Given the description of an element on the screen output the (x, y) to click on. 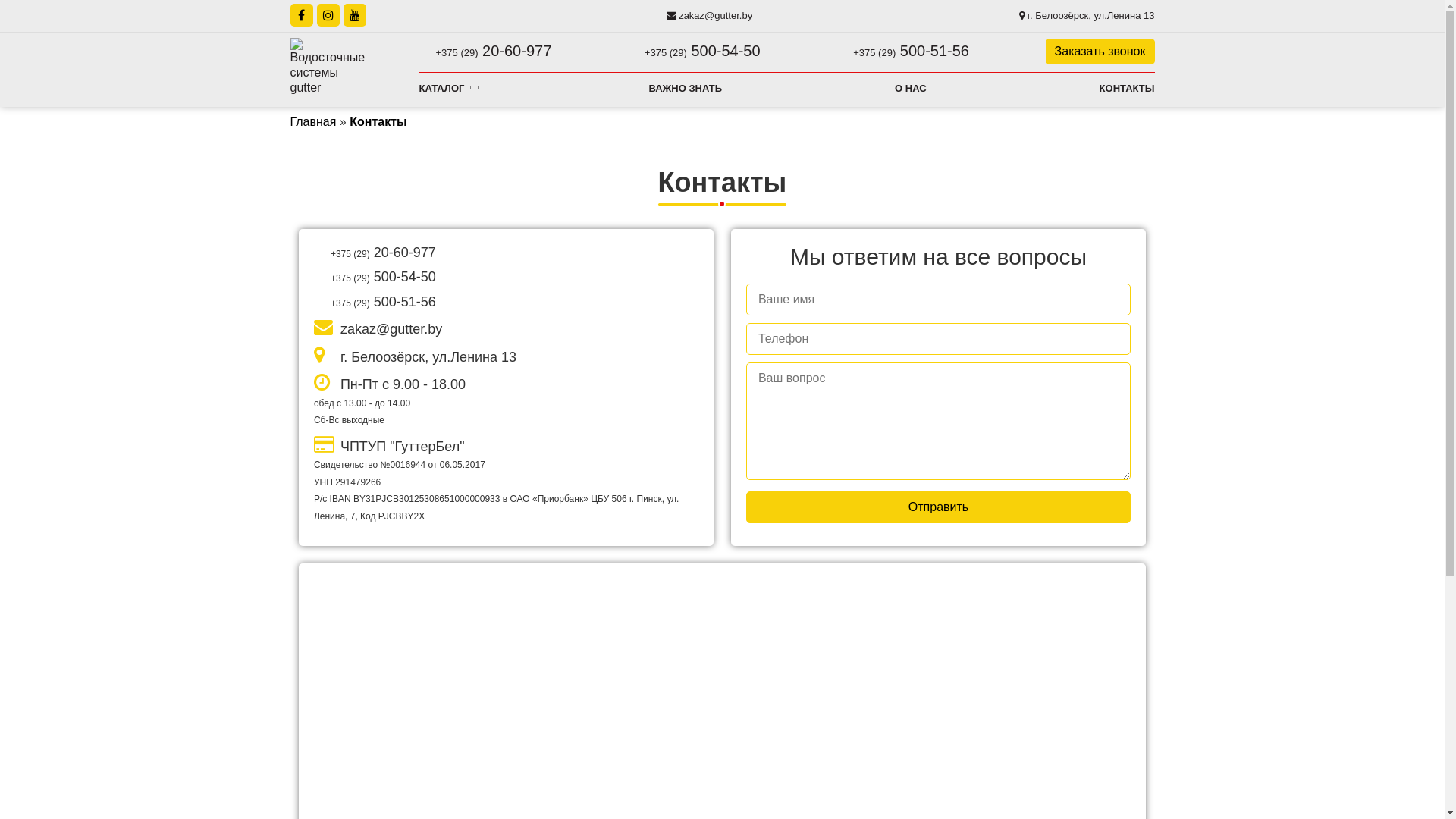
+375 (29) 500-54-50 Element type: text (505, 276)
+375 (29) 500-51-56 Element type: text (505, 301)
zakaz@gutter.by Element type: text (709, 15)
zakaz@gutter.by Element type: text (505, 327)
+375 (29) 500-54-50 Element type: text (693, 50)
+375 (29) 20-60-977 Element type: text (505, 252)
youtube Element type: hover (353, 14)
Facebook Element type: hover (300, 14)
Instagram Element type: hover (327, 14)
+375 (29) 20-60-977 Element type: text (484, 50)
+375 (29) 500-51-56 Element type: text (902, 50)
